Given the description of an element on the screen output the (x, y) to click on. 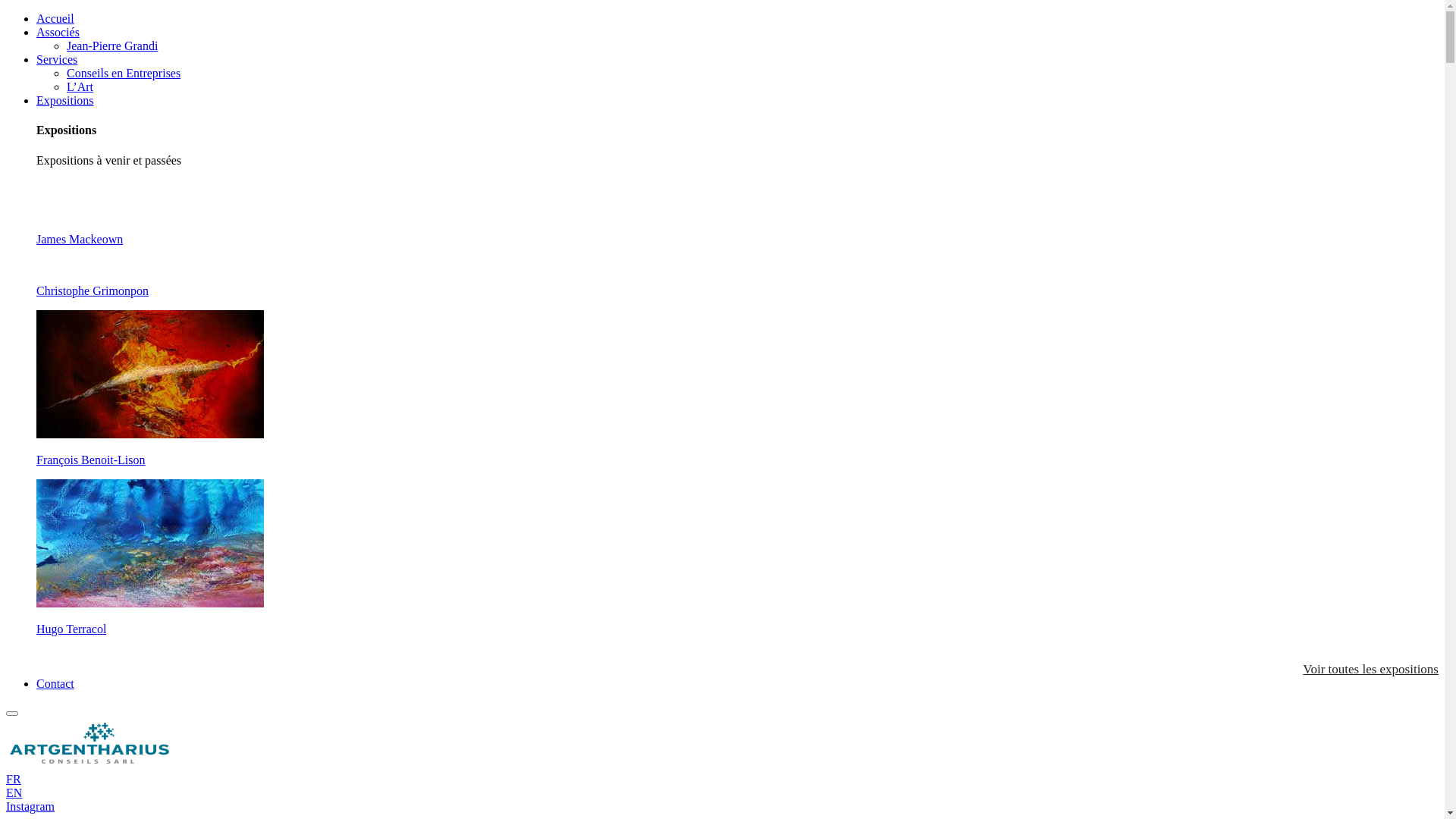
Contact Element type: text (55, 683)
Expositions Element type: text (65, 100)
EN Element type: text (13, 792)
Hugo Terracol Element type: text (737, 616)
Accueil Element type: text (55, 18)
Instagram Element type: text (30, 806)
Conseils en Entreprises Element type: text (123, 72)
FR Element type: text (13, 778)
Jean-Pierre Grandi Element type: text (111, 45)
Voir toutes les expositions Element type: text (1370, 669)
James Mackeown Element type: text (737, 252)
Christophe Grimonpon Element type: text (737, 303)
Services Element type: text (56, 59)
